Given the description of an element on the screen output the (x, y) to click on. 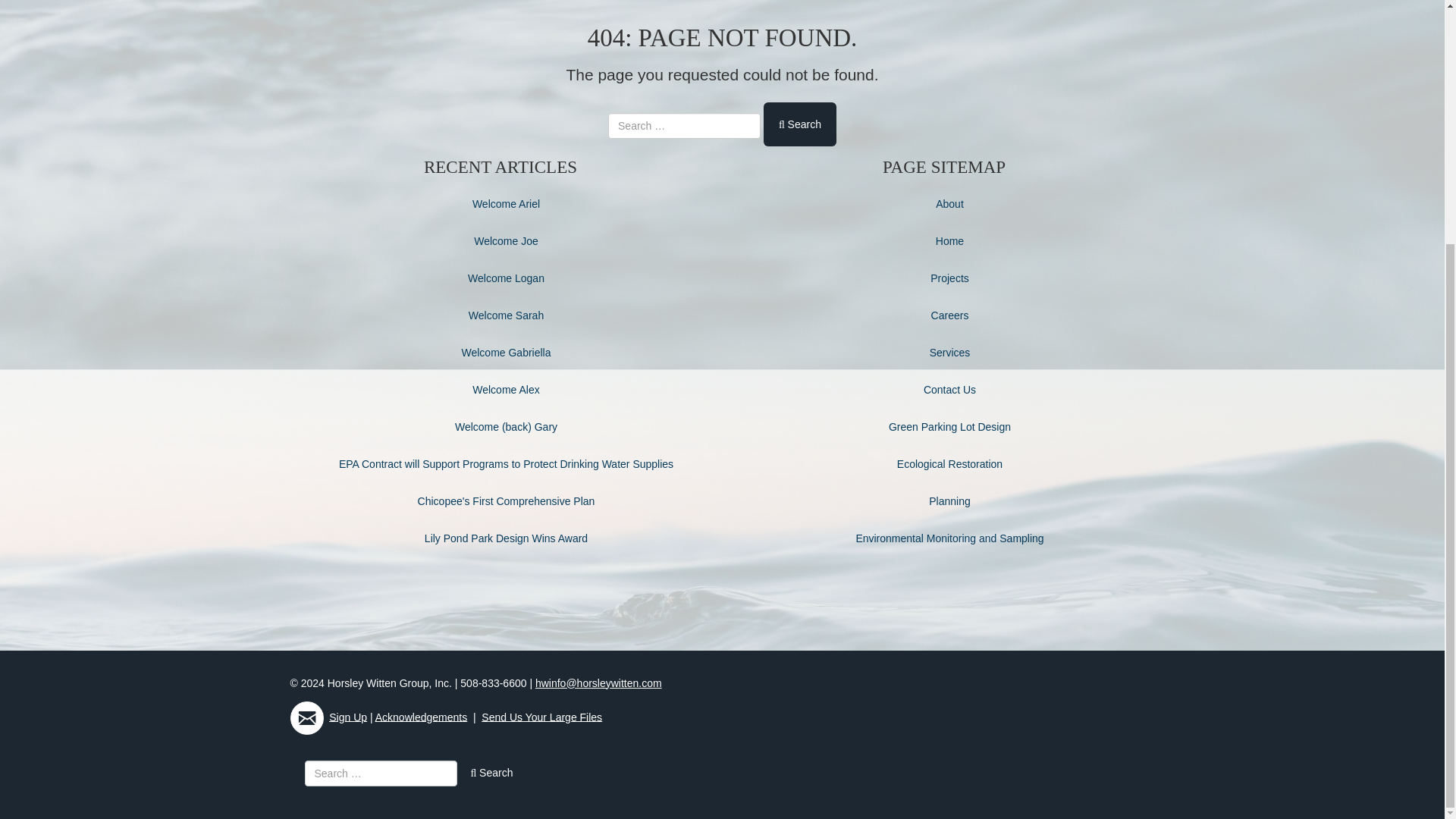
Chicopee's First Comprehensive Plan (506, 500)
Welcome Logan (505, 277)
Home (949, 241)
Projects (949, 277)
Careers (950, 315)
Welcome Ariel (505, 203)
Welcome Alex (504, 389)
 Search (798, 124)
About (949, 203)
Lily Pond Park Design Wins Award (506, 538)
Welcome Sarah (505, 315)
Welcome Gabriella (505, 352)
Welcome Joe (506, 241)
